Given the description of an element on the screen output the (x, y) to click on. 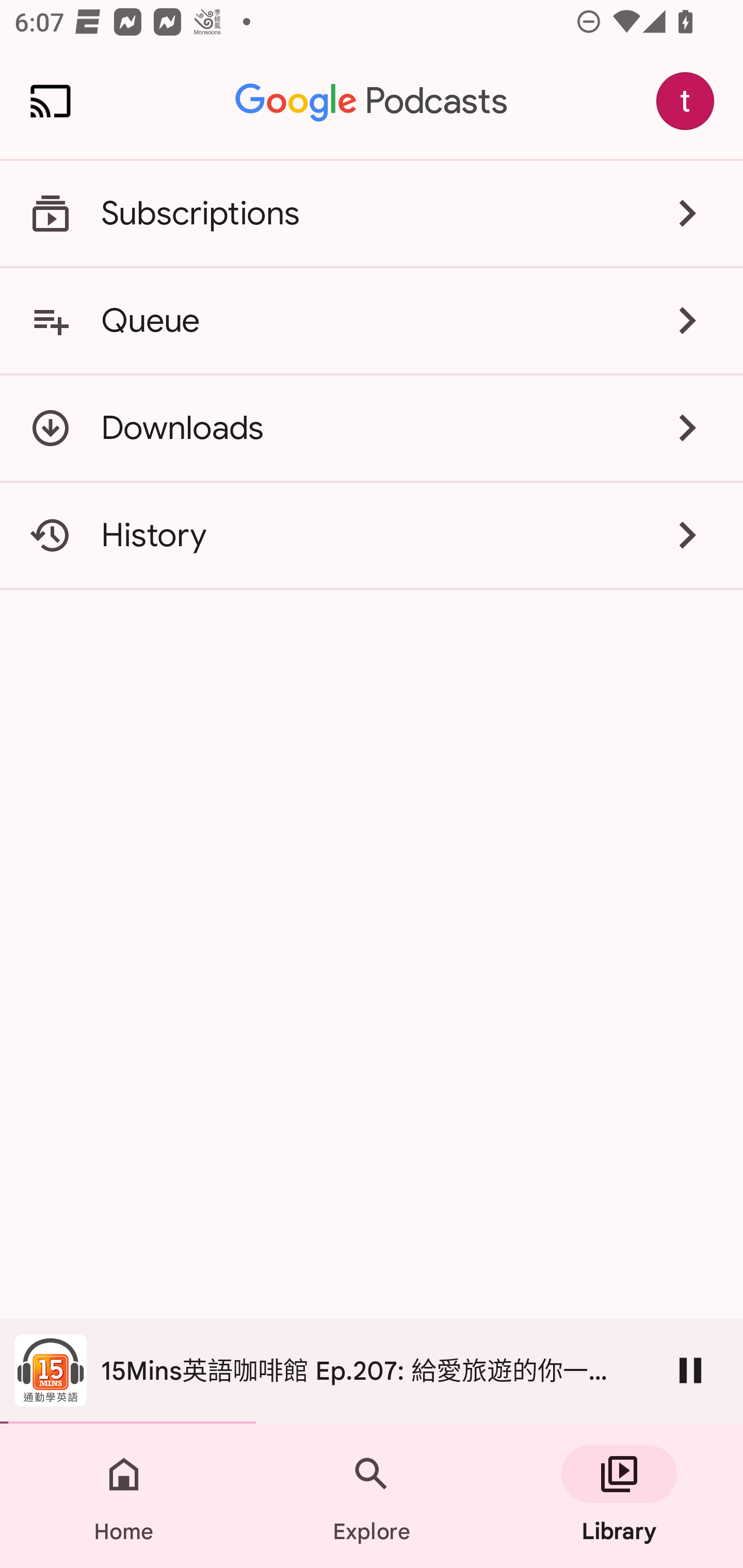
Cast. Disconnected (50, 101)
Subscriptions (371, 213)
Queue (371, 320)
Downloads (371, 427)
History (371, 535)
Pause (690, 1370)
Home (123, 1495)
Explore (371, 1495)
